Given the description of an element on the screen output the (x, y) to click on. 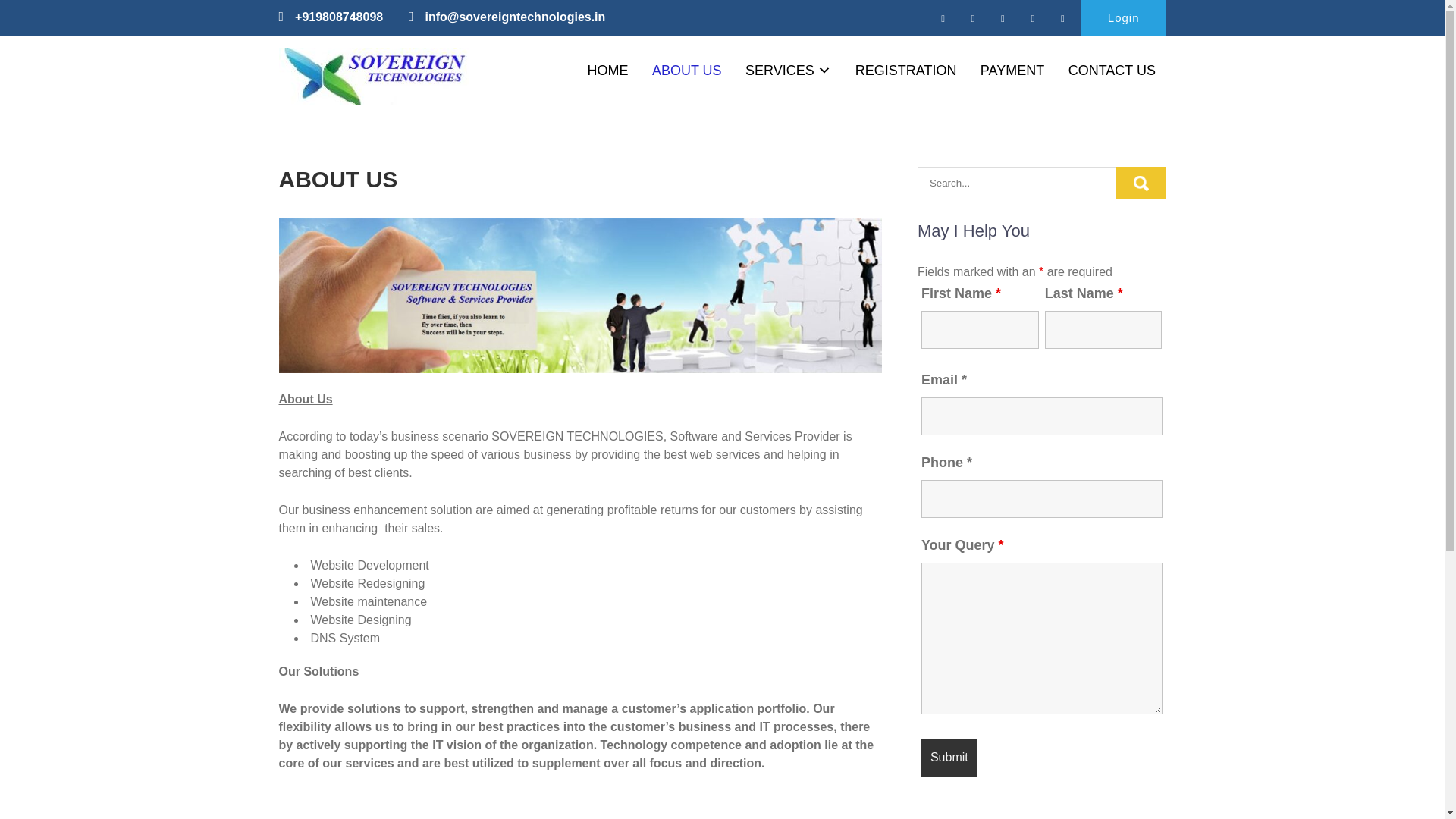
Search (1141, 183)
SERVICES (788, 70)
ABOUT US (687, 70)
REGISTRATION (905, 70)
Search (1141, 183)
Search (1141, 183)
Login (1123, 18)
CONTACT US (1112, 70)
Submit (948, 757)
HOME (607, 70)
PAYMENT (1011, 70)
